Given the description of an element on the screen output the (x, y) to click on. 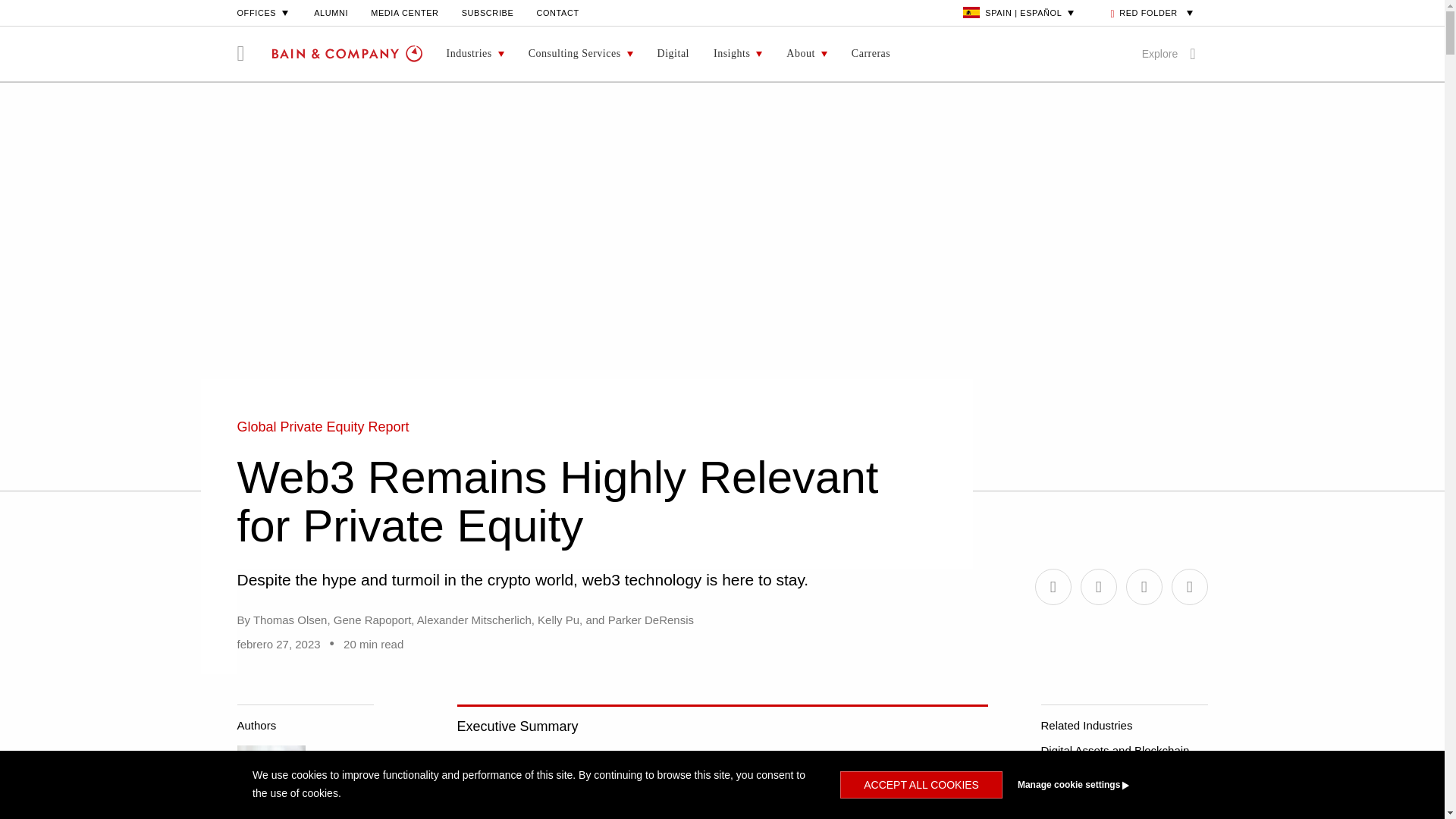
OFFICES (263, 12)
Manage cookie settings (1101, 784)
ACCEPT ALL COOKIES (921, 784)
